Given the description of an element on the screen output the (x, y) to click on. 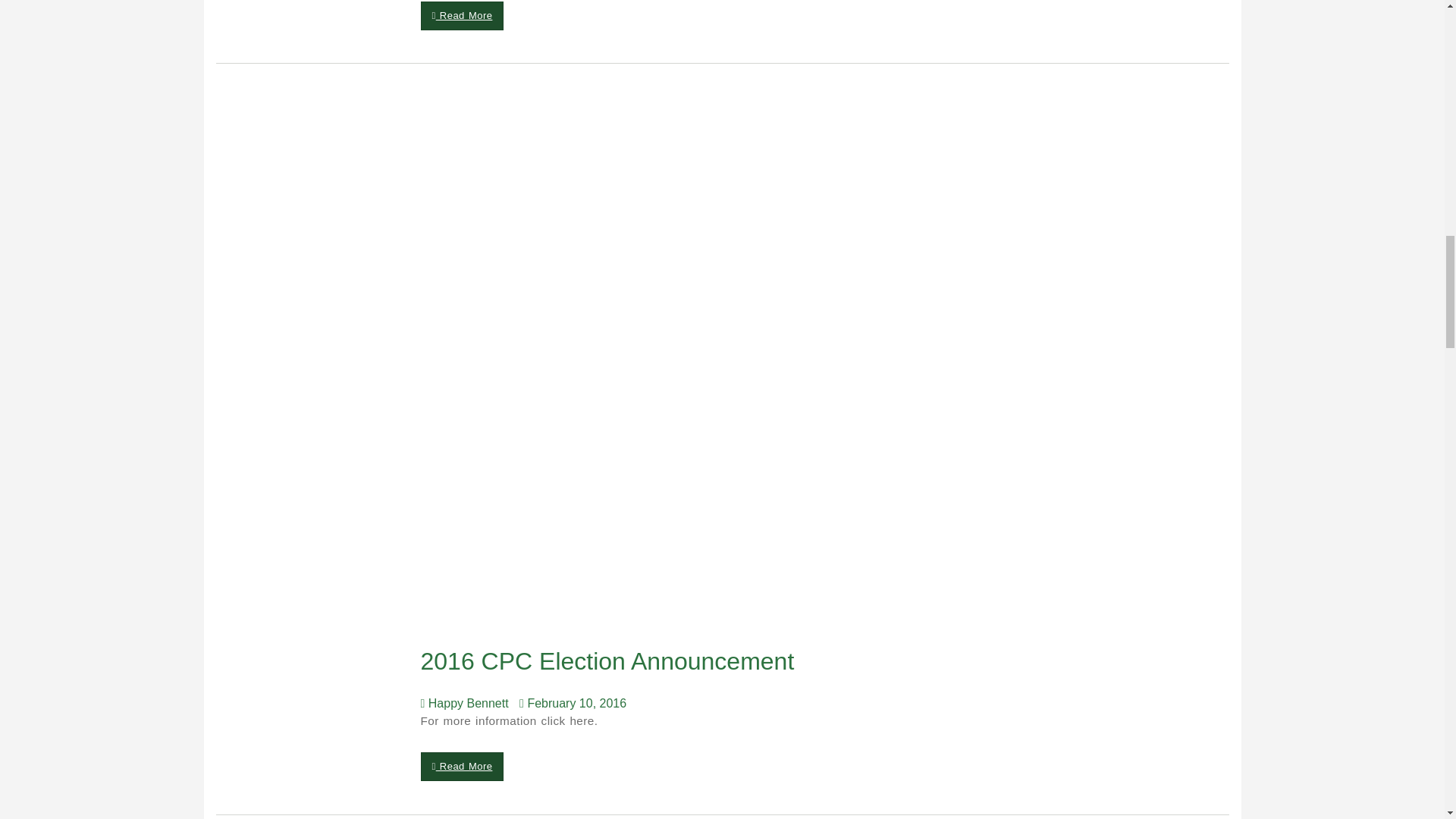
Read More (461, 15)
Happy Bennett (467, 703)
Read More (461, 766)
2016 CPC Election Announcement (611, 660)
February 10, 2016 (576, 703)
Posts by Happy Bennett (467, 703)
